Given the description of an element on the screen output the (x, y) to click on. 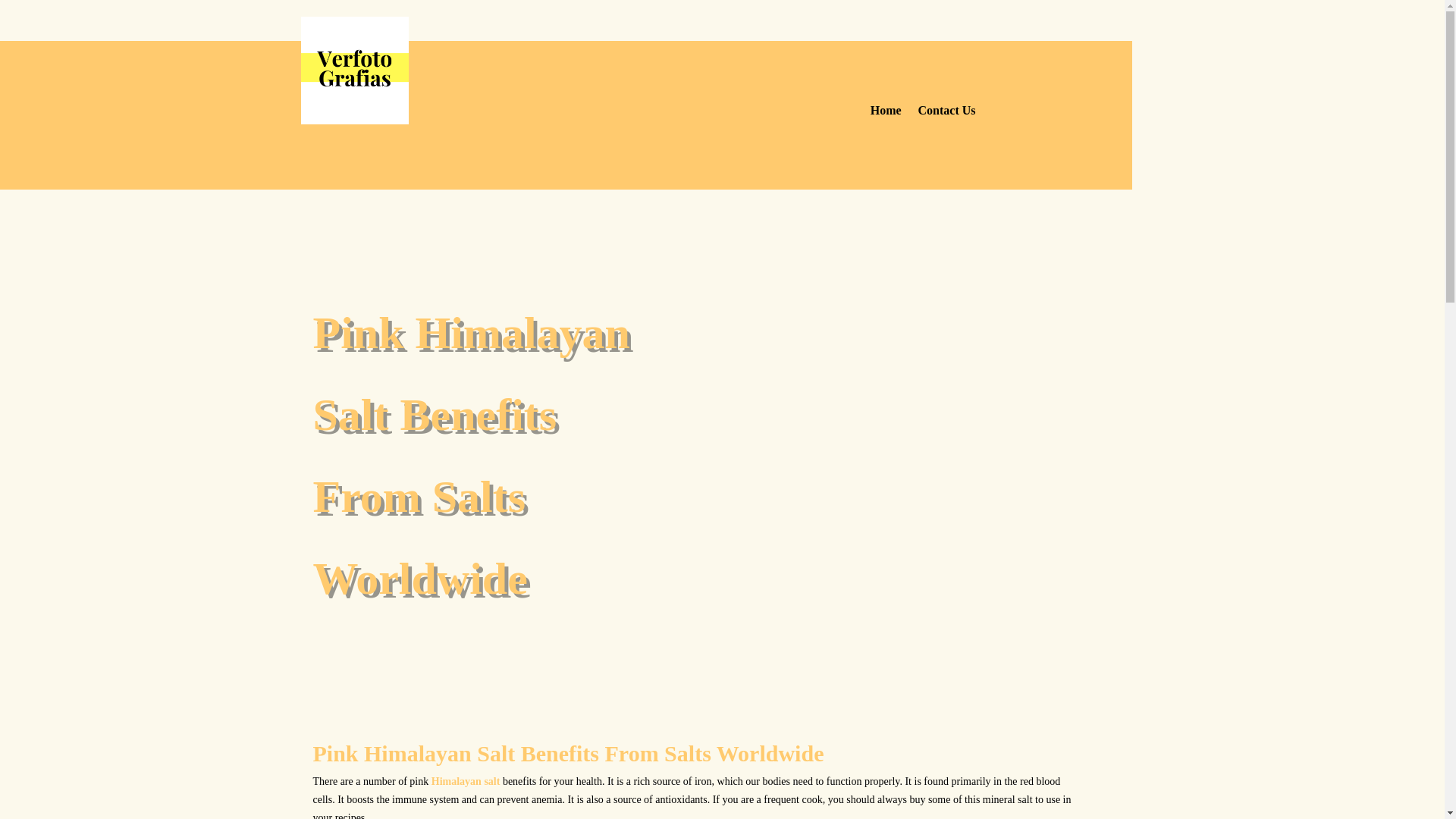
Home (885, 113)
Contact Us (946, 113)
Himalayan salt (465, 781)
